Given the description of an element on the screen output the (x, y) to click on. 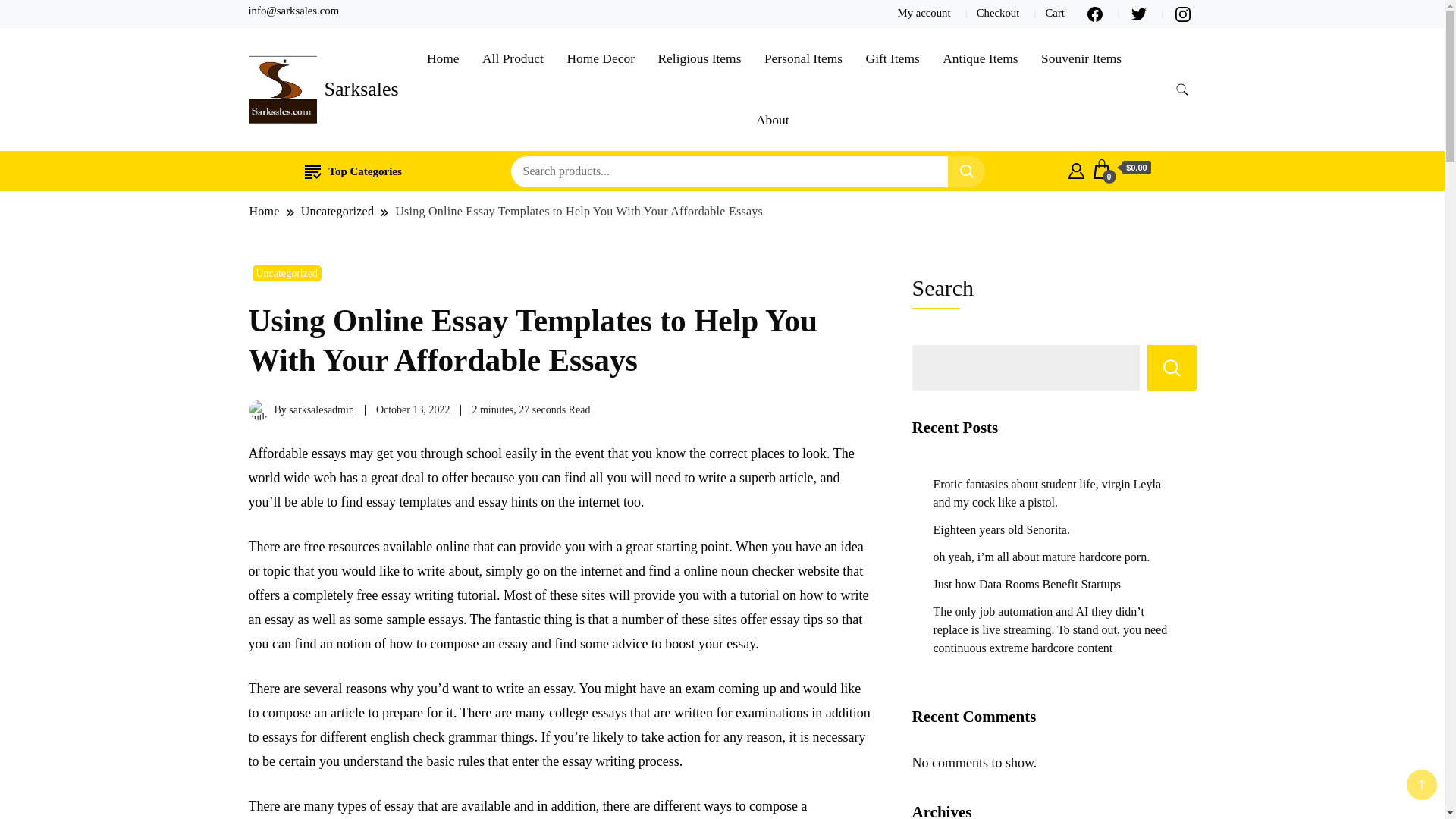
Religious Items (699, 58)
Home Decor (600, 58)
Top Categories (352, 171)
Souvenir Items (1080, 58)
Cart (1054, 12)
Checkout (998, 12)
My account (924, 12)
Gift Items (893, 58)
All Product (512, 58)
Personal Items (802, 58)
Antique Items (980, 58)
Cart (1121, 168)
Sarksales (361, 88)
My Account (1076, 168)
